Given the description of an element on the screen output the (x, y) to click on. 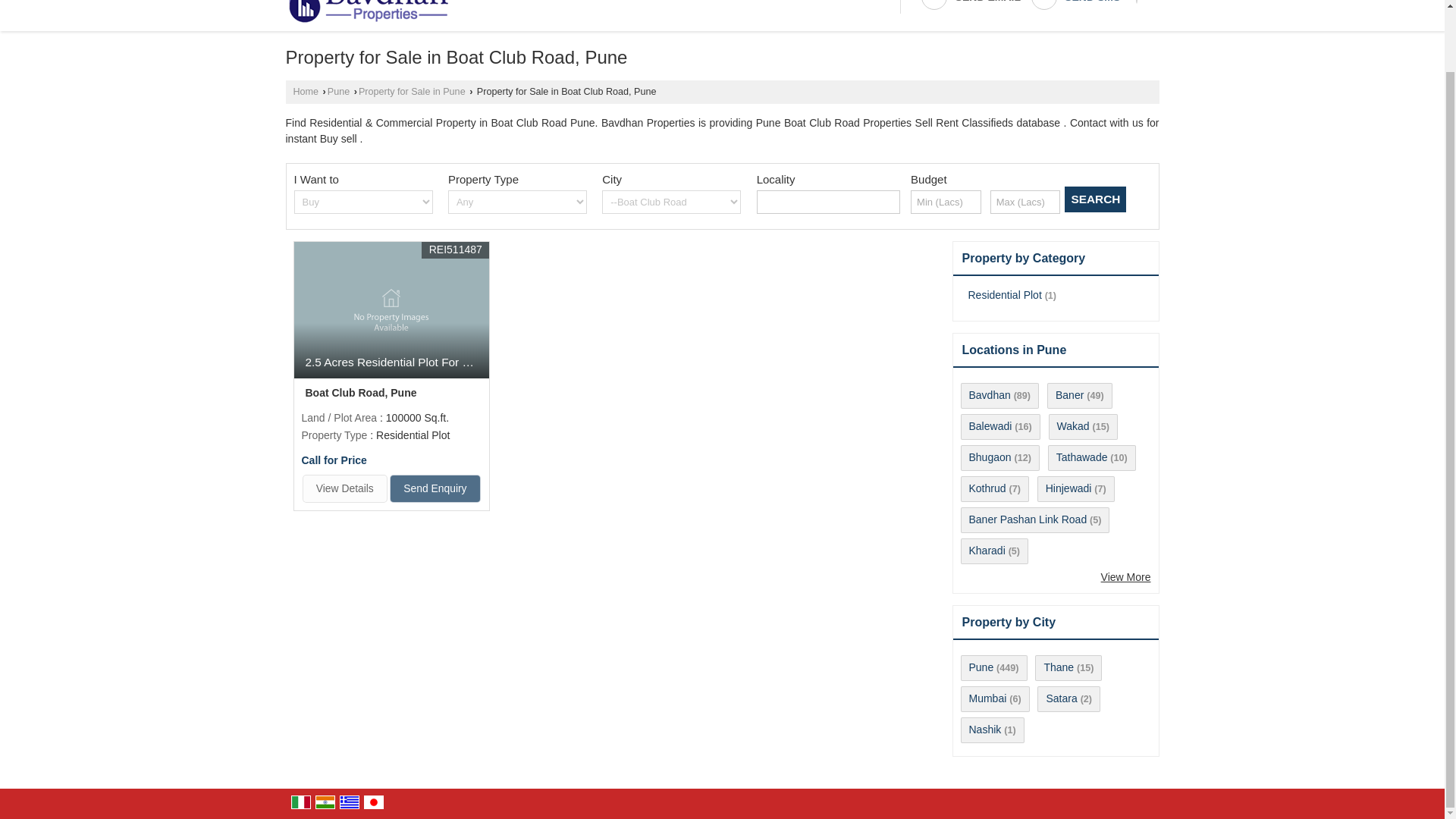
SEARCH (1094, 199)
SEND EMAIL (970, 6)
SEND SMS (1075, 6)
Bavdhan Properties (365, 11)
